Given the description of an element on the screen output the (x, y) to click on. 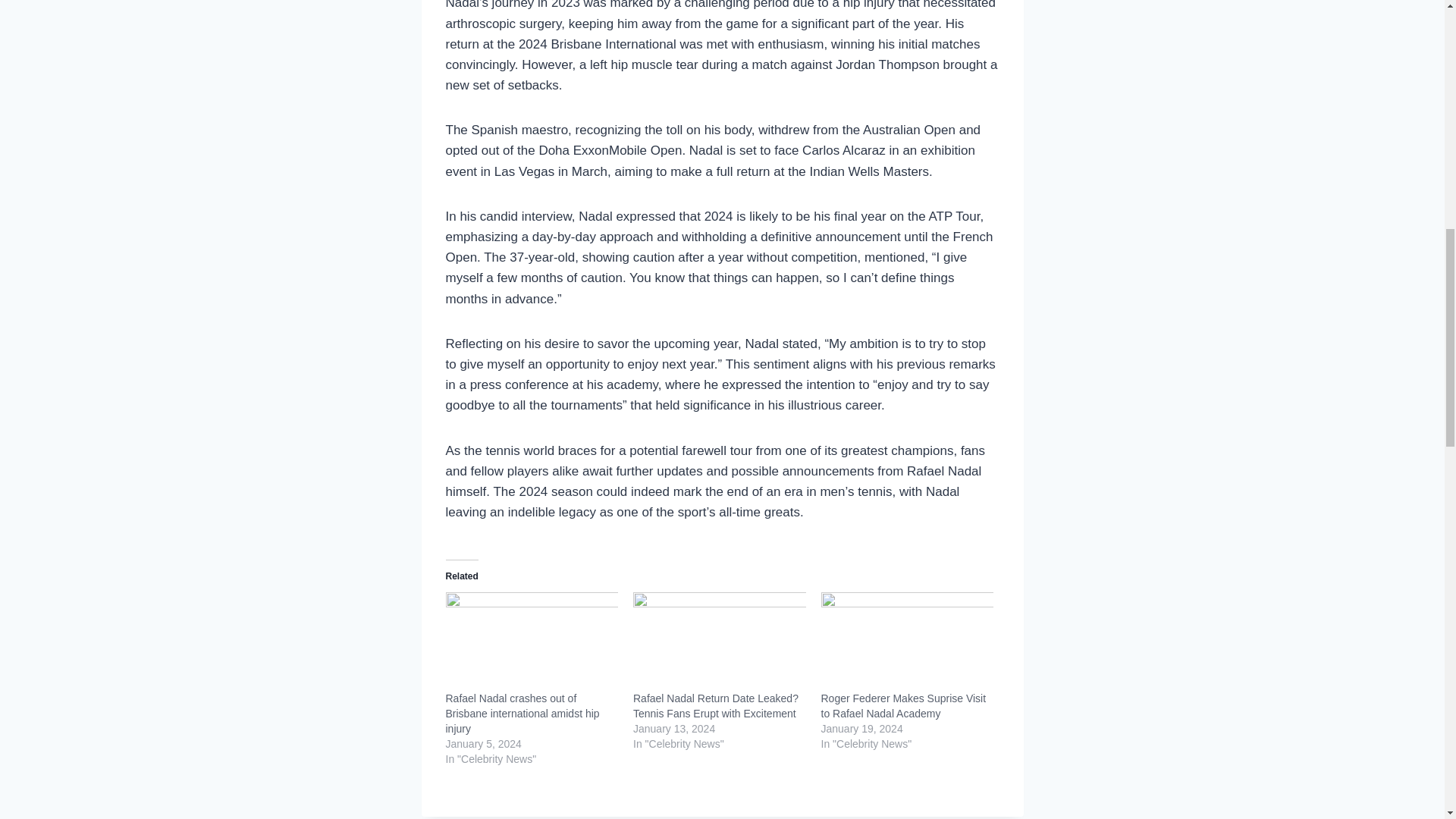
Roger Federer Makes Suprise Visit to Rafael Nadal Academy (903, 705)
Roger Federer Makes Suprise Visit to Rafael Nadal Academy (903, 705)
Roger Federer Makes Suprise Visit to Rafael Nadal Academy (906, 641)
